Given the description of an element on the screen output the (x, y) to click on. 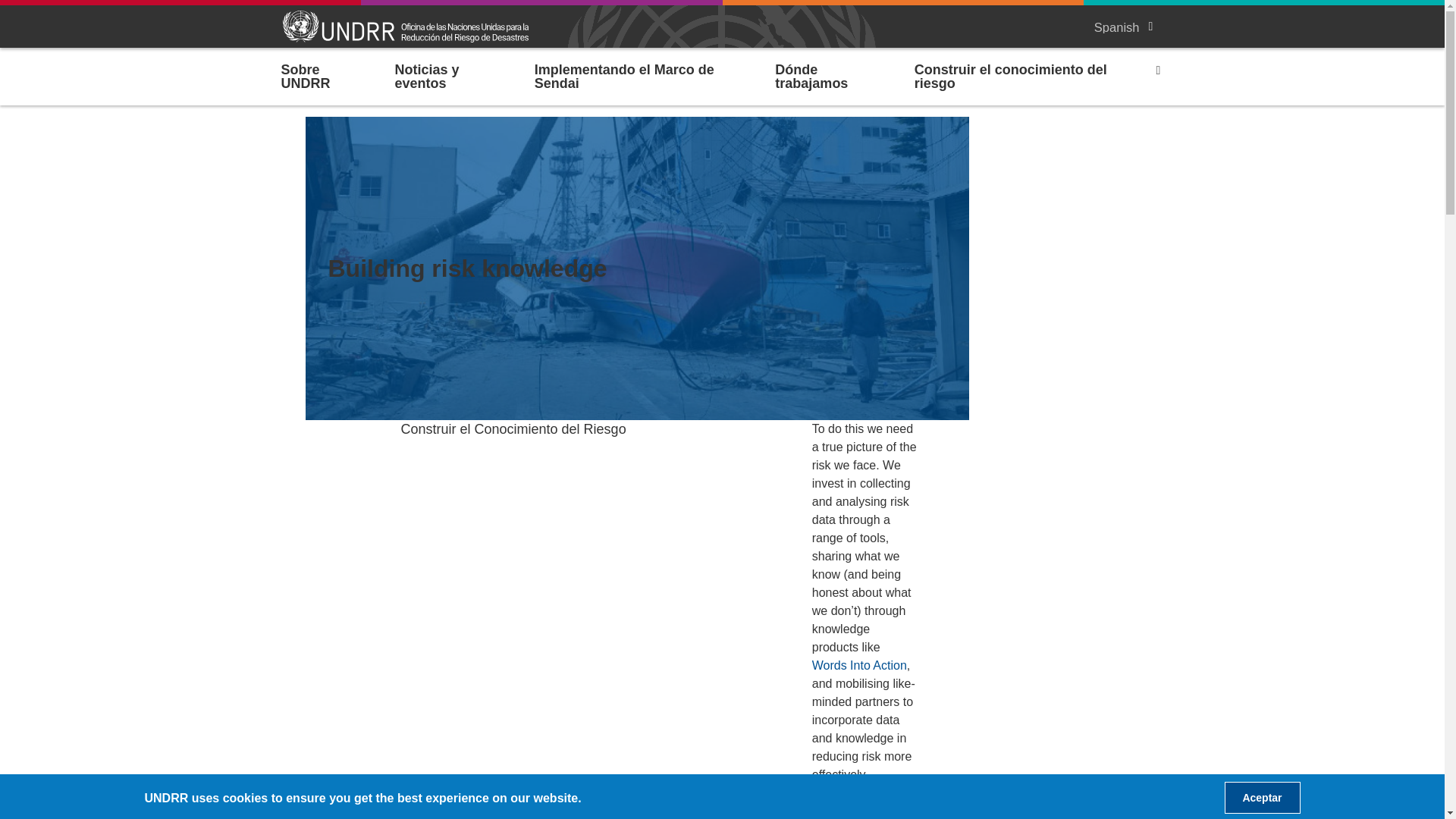
UNDRR Logo (404, 25)
Sobre UNDRR (321, 76)
Noticias y eventos (448, 76)
